Given the description of an element on the screen output the (x, y) to click on. 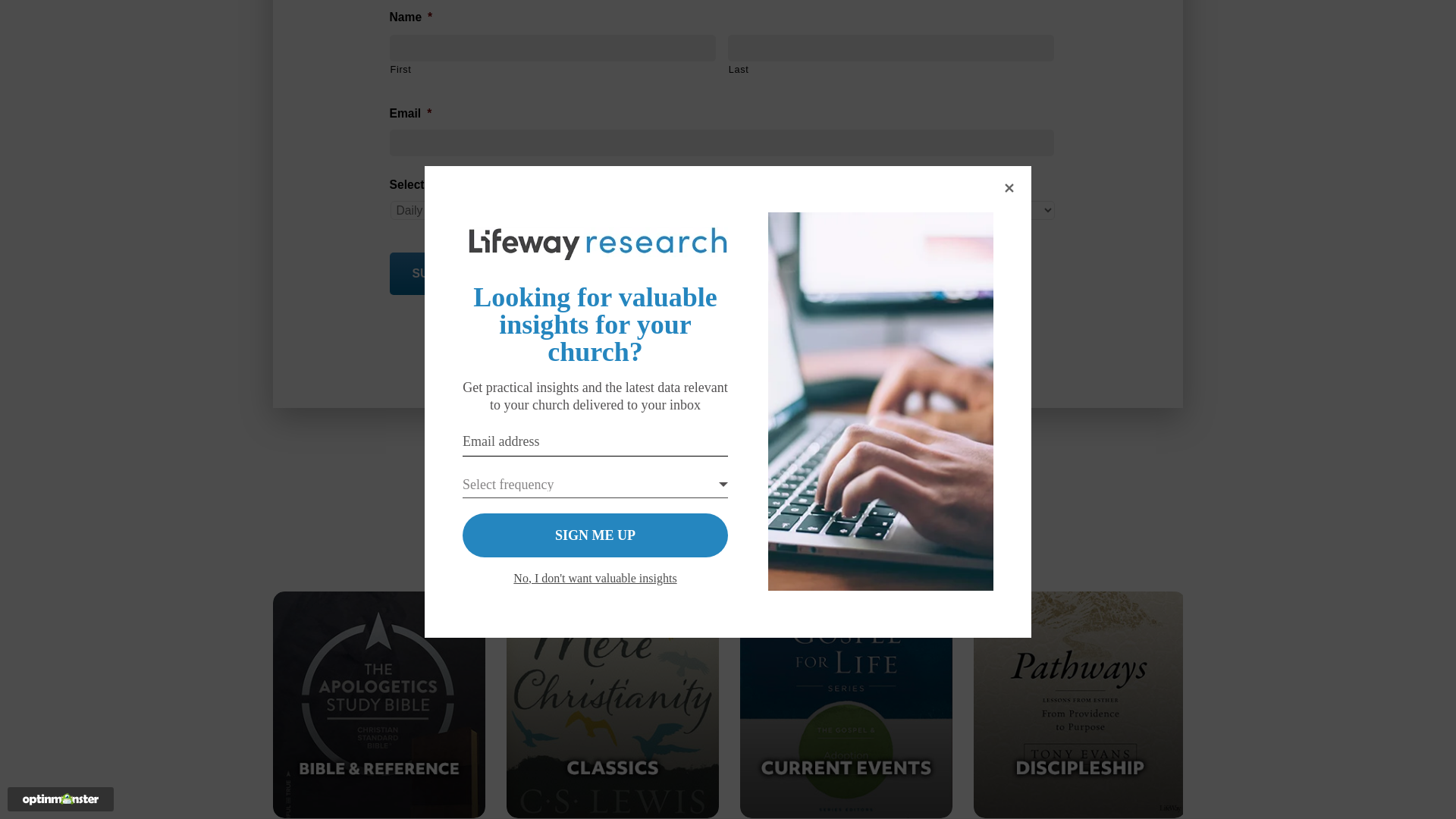
Submit (435, 273)
